Given the description of an element on the screen output the (x, y) to click on. 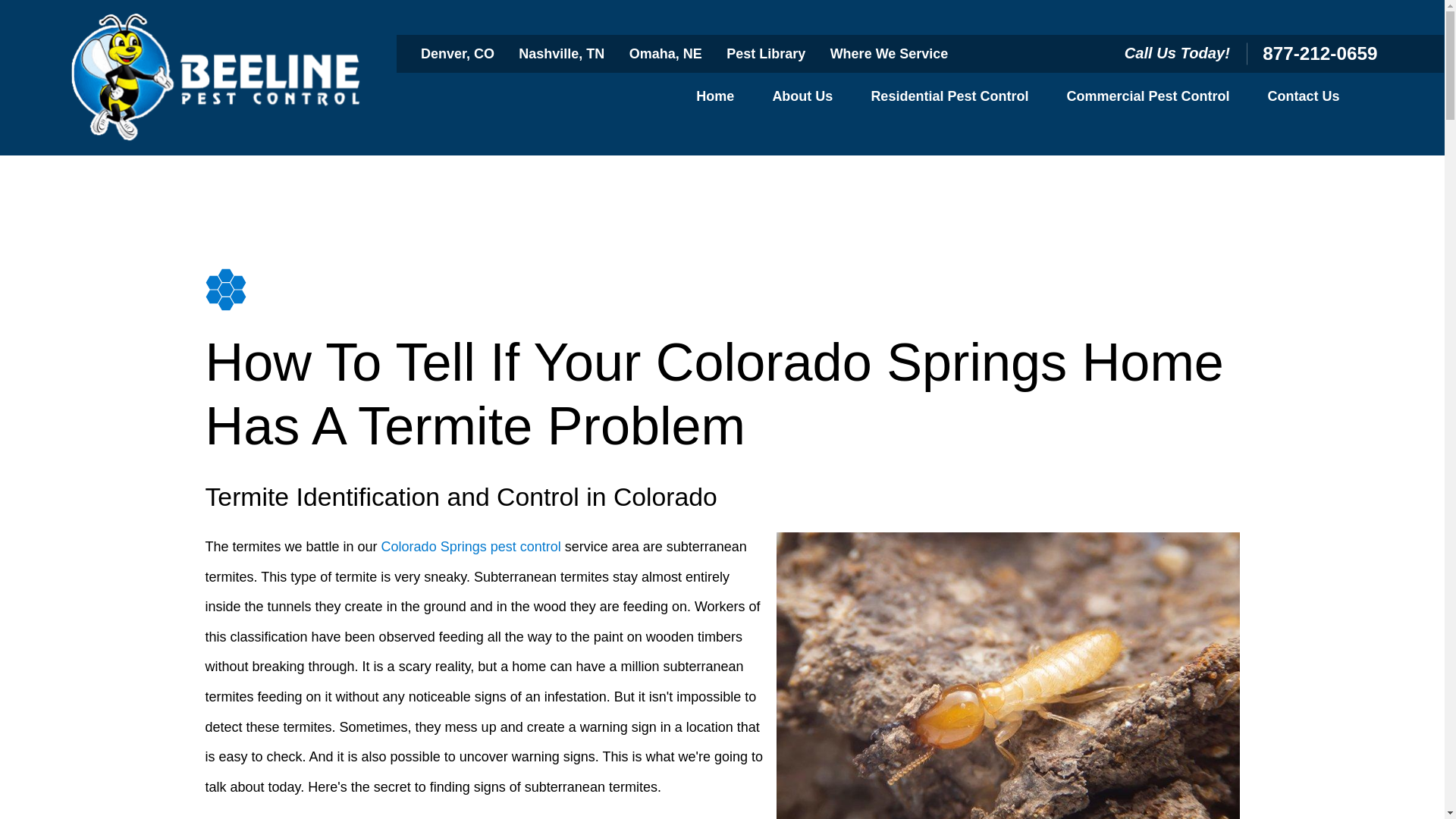
About Us (801, 96)
Home (217, 77)
Commercial Pest Control (1146, 96)
877-212-0659 (1319, 53)
Omaha, NE (664, 53)
Home (714, 96)
Residential Pest Control (948, 96)
Where We Service (889, 53)
Contact Us (1302, 96)
Pest Library (765, 53)
